Given the description of an element on the screen output the (x, y) to click on. 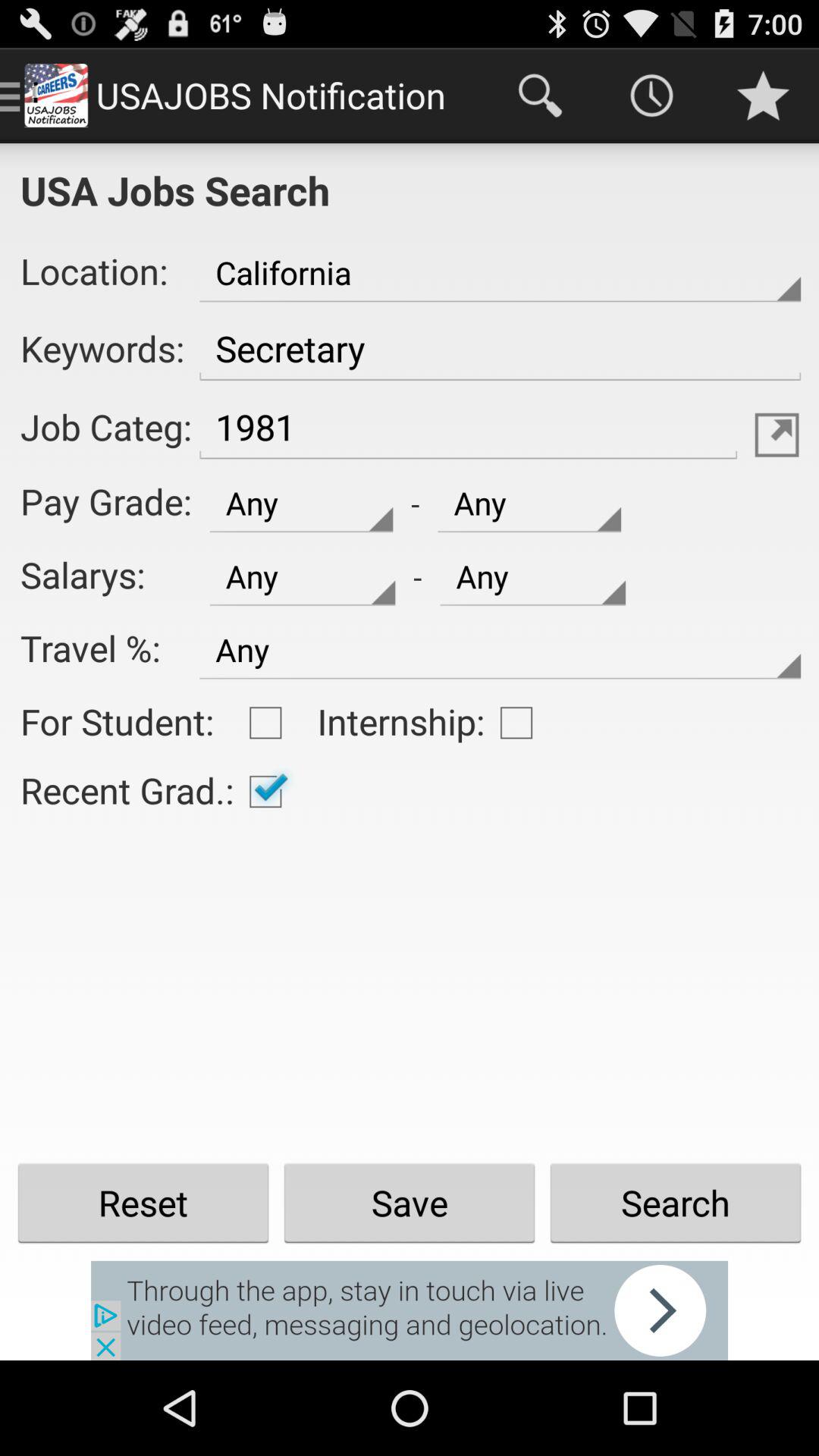
go to next (409, 1310)
